Given the description of an element on the screen output the (x, y) to click on. 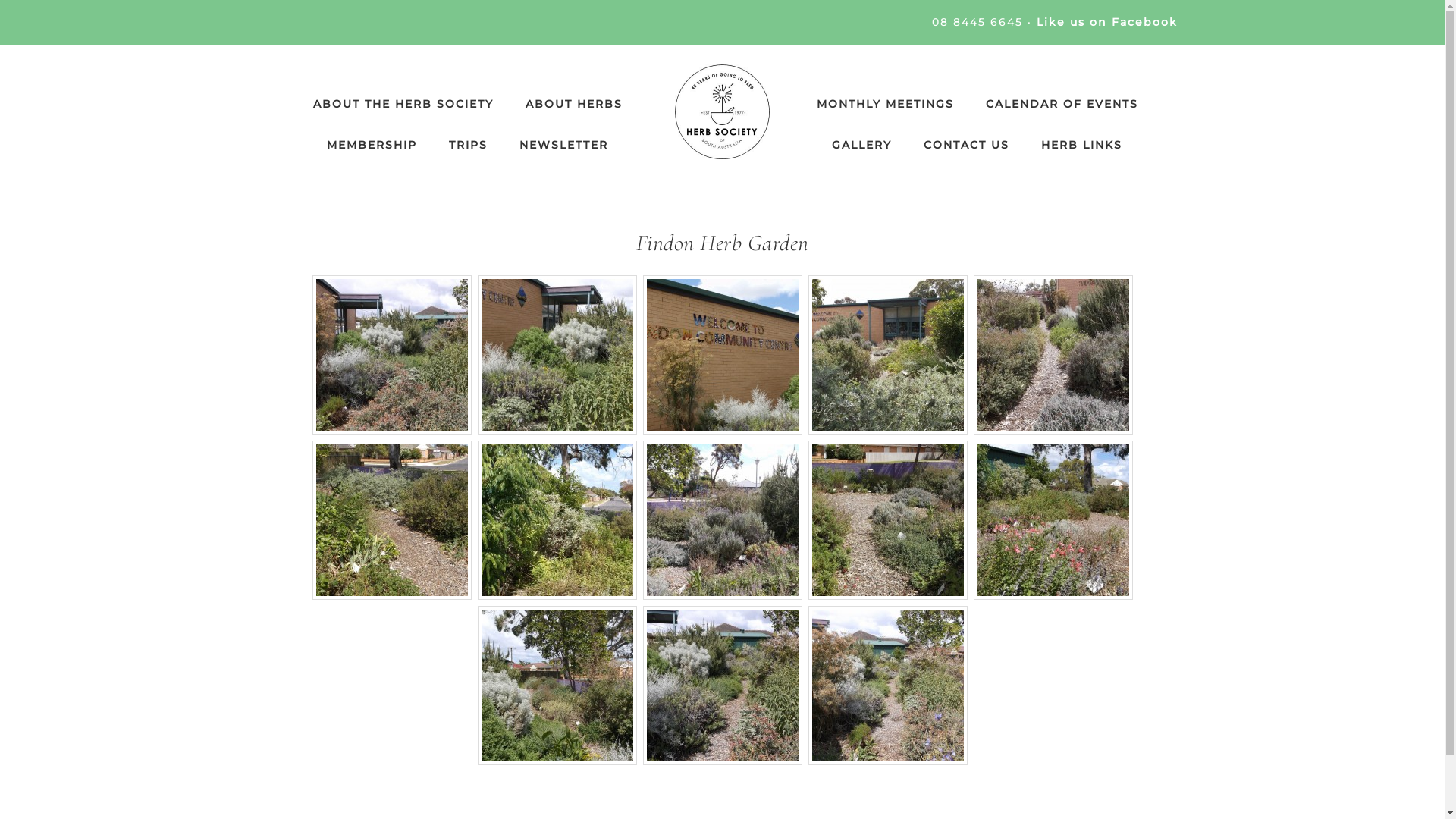
CONTACT US Element type: text (966, 144)
ABOUT THE HERB SOCIETY Element type: text (402, 103)
ABOUT HERBS Element type: text (573, 103)
MONTHLY MEETINGS Element type: text (884, 103)
NEWSLETTER Element type: text (563, 144)
GALLERY Element type: text (861, 144)
HERB LINKS Element type: text (1081, 144)
MEMBERSHIP Element type: text (371, 144)
CALENDAR OF EVENTS Element type: text (1061, 103)
Like us on Facebook Element type: text (1105, 21)
HERB SOCIETY OF SA Element type: text (721, 111)
TRIPS Element type: text (468, 144)
